Given the description of an element on the screen output the (x, y) to click on. 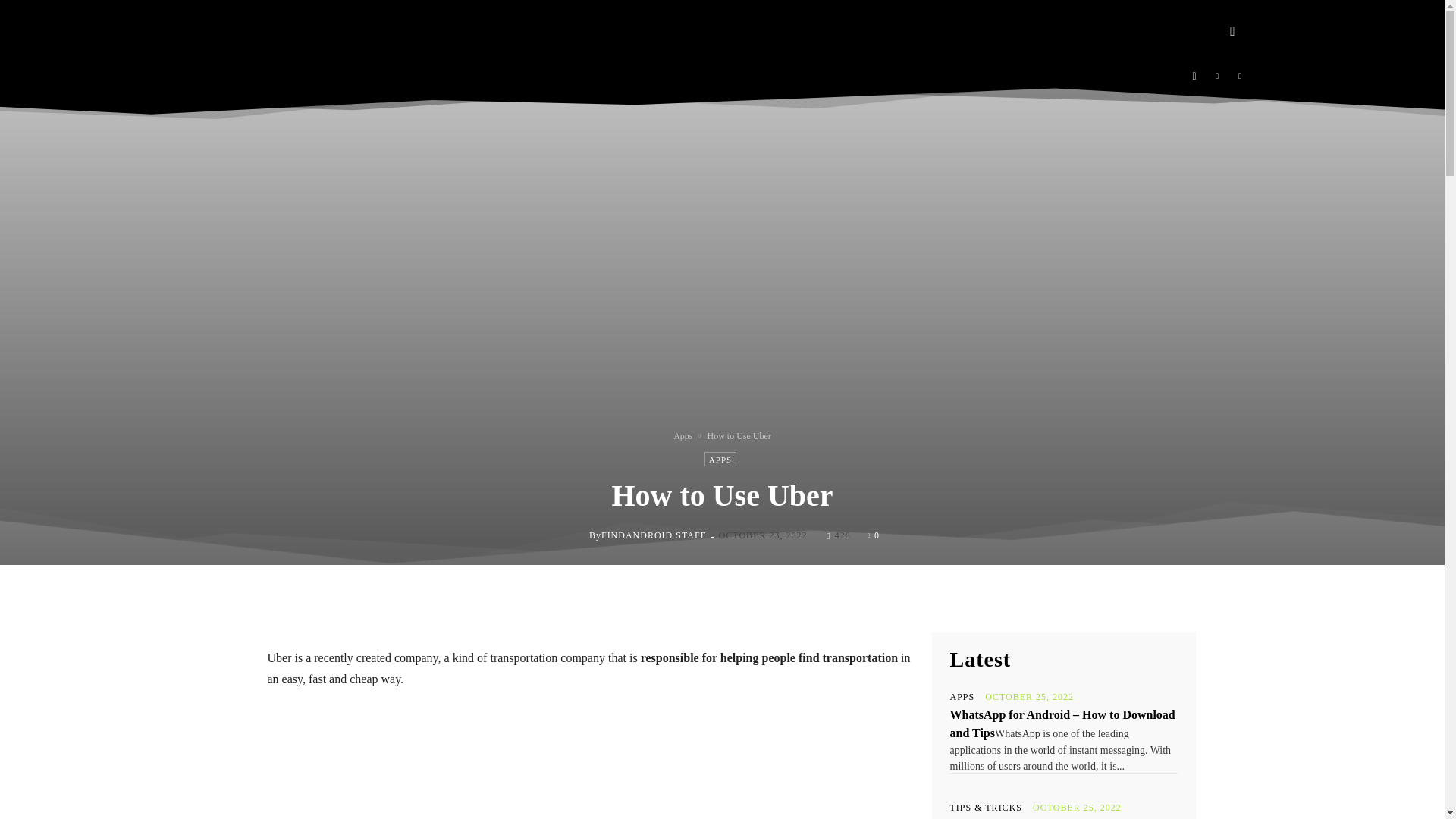
APPS (720, 459)
HOW TO (691, 30)
FINDANDROID STAFF (653, 534)
GAMES (623, 30)
View all posts in Apps (682, 435)
SOFTWARE (769, 30)
HOME (510, 30)
APPS (566, 30)
UTILITES (852, 30)
Apps (682, 435)
